Given the description of an element on the screen output the (x, y) to click on. 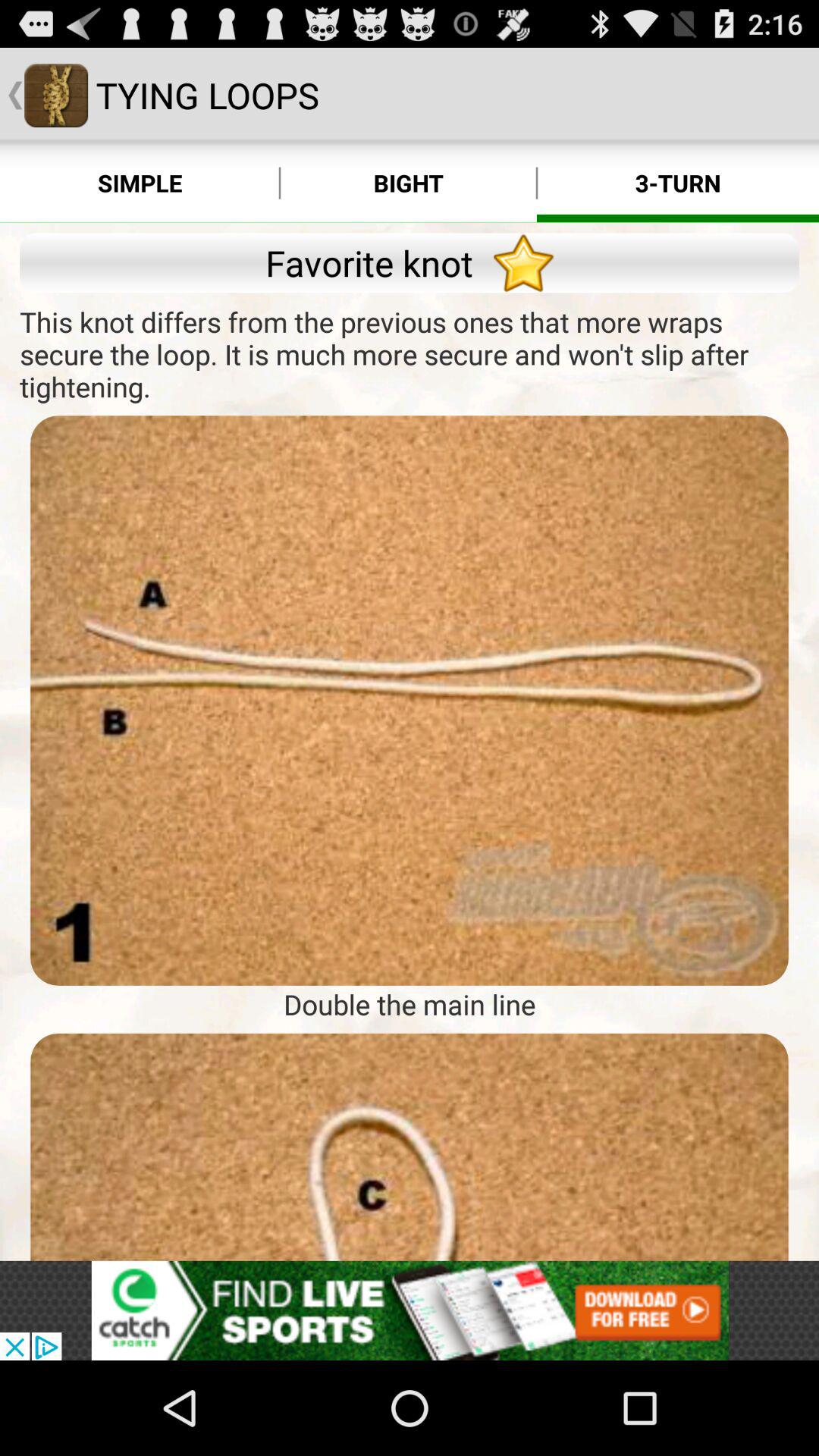
go to previous (409, 1146)
